Given the description of an element on the screen output the (x, y) to click on. 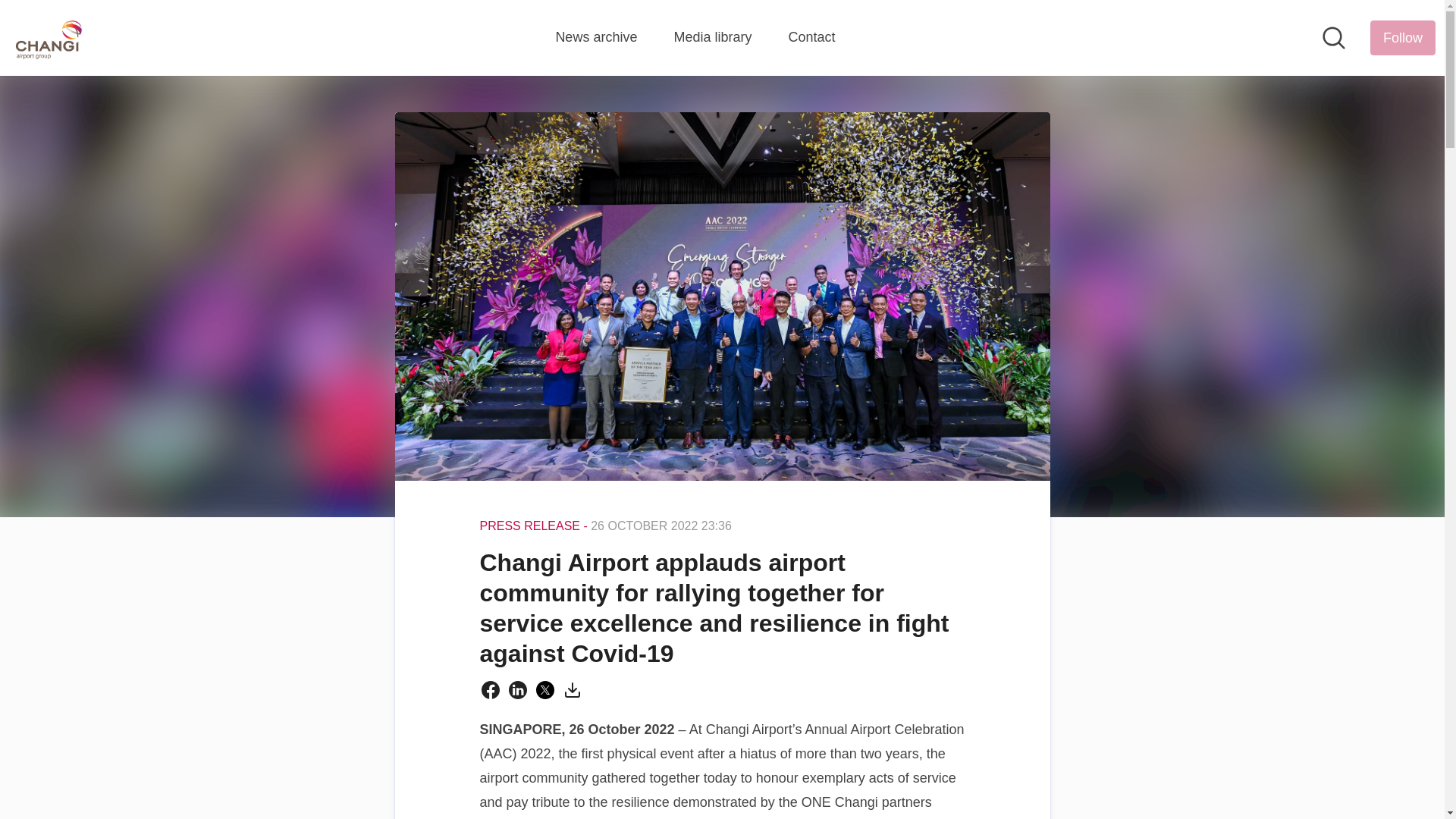
Follow (1402, 37)
Share on Facebook (489, 689)
News archive (595, 37)
Share on Linkedin (516, 689)
Media library (711, 37)
Share on Twitter (544, 689)
Search in newsroom (1333, 37)
Contact (810, 37)
Download as PDF (571, 689)
